Given the description of an element on the screen output the (x, y) to click on. 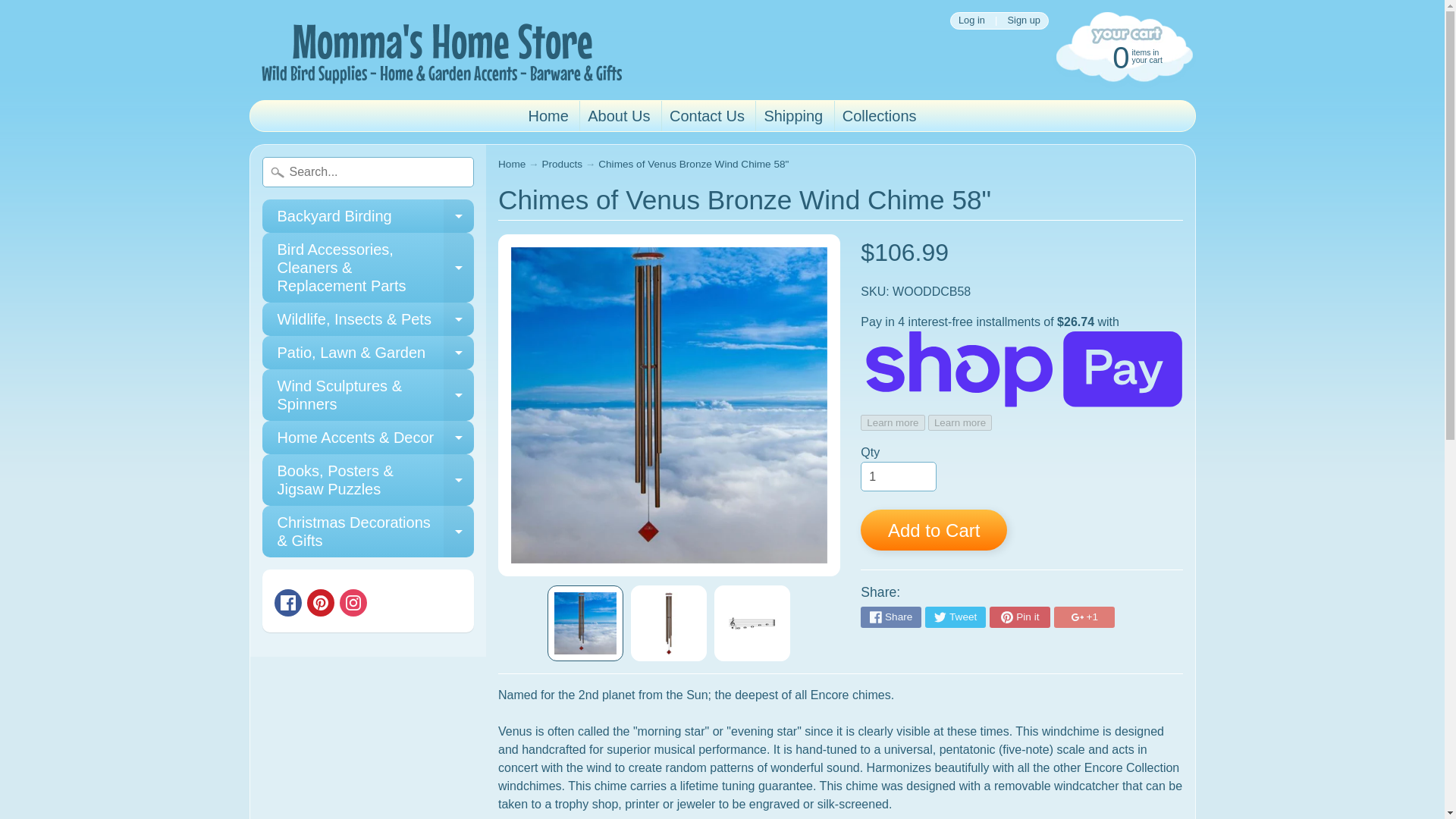
1 (898, 476)
Expand child menu (459, 215)
About Us (618, 115)
Tweet on Twitter (954, 617)
Pin on Pinterest (1019, 617)
Chimes of Venus Bronze Wind Chime 58" (752, 622)
Home (547, 115)
Collections (879, 115)
Sign up (1024, 20)
Momma's Home Store (437, 49)
Instagram (352, 602)
Pinterest (320, 602)
Share on Facebook (368, 215)
Facebook (890, 617)
